Given the description of an element on the screen output the (x, y) to click on. 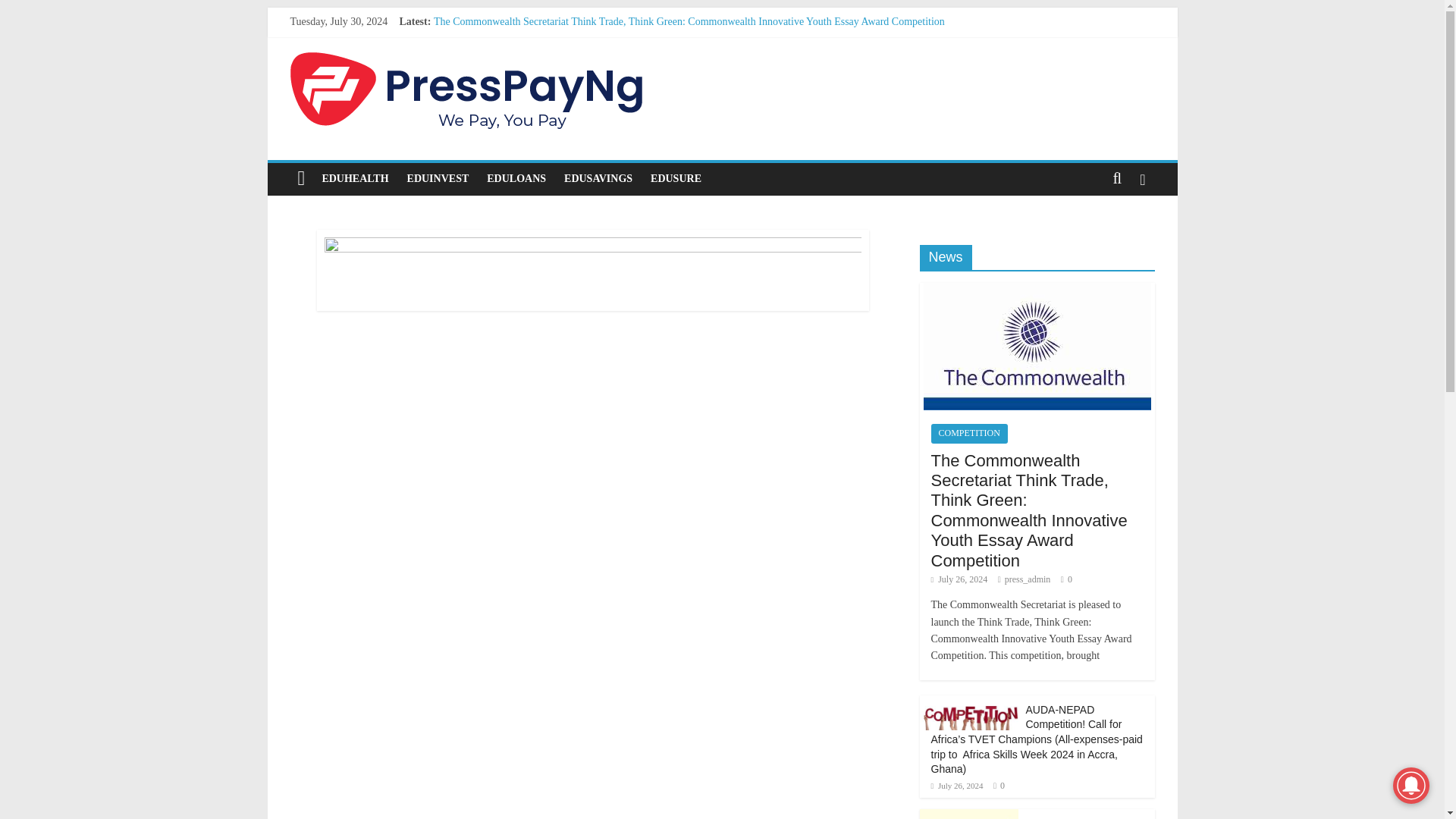
4:06 pm (957, 785)
COMPETITION (969, 433)
NELFUND: 16 More Schools Approved for Student Loan (556, 55)
Top 10 Countries in Africa with Best Education System (551, 71)
NELFUND: 16 More Schools Approved for Student Loan (556, 55)
EDUSURE (676, 178)
4:10 pm (959, 579)
NELFUND: 16 More Schools Approved for Student Loan (1075, 818)
Top 10 Countries in Africa with Best Education System (551, 71)
